Given the description of an element on the screen output the (x, y) to click on. 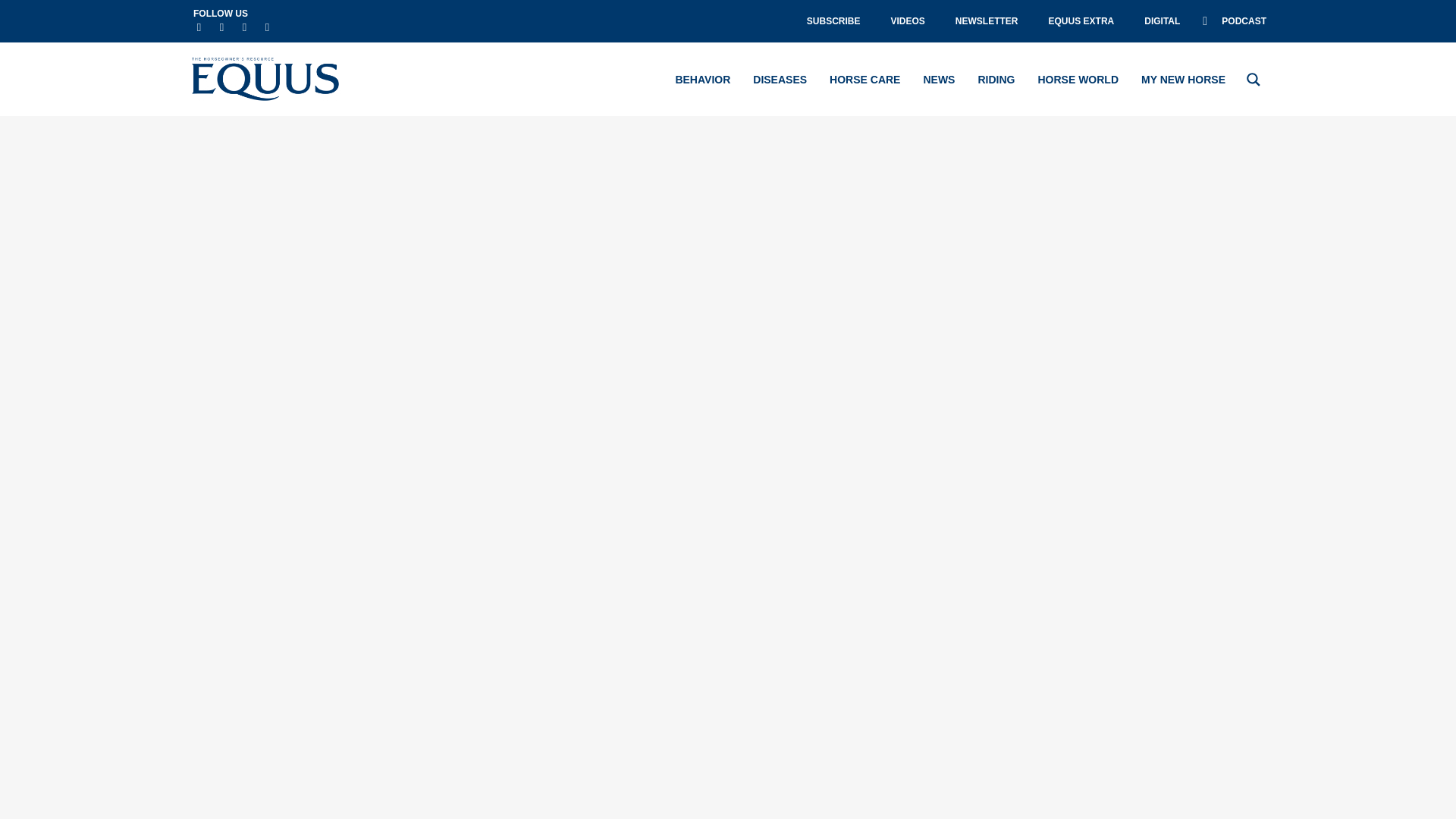
VIDEOS (907, 21)
EQUUS EXTRA (1081, 21)
DISEASES (779, 79)
HORSE CARE (864, 79)
BEHAVIOR (702, 79)
PODCAST (1234, 20)
SUBSCRIBE (834, 21)
DIGITAL (1162, 21)
NEWS (939, 79)
NEWSLETTER (986, 21)
